Given the description of an element on the screen output the (x, y) to click on. 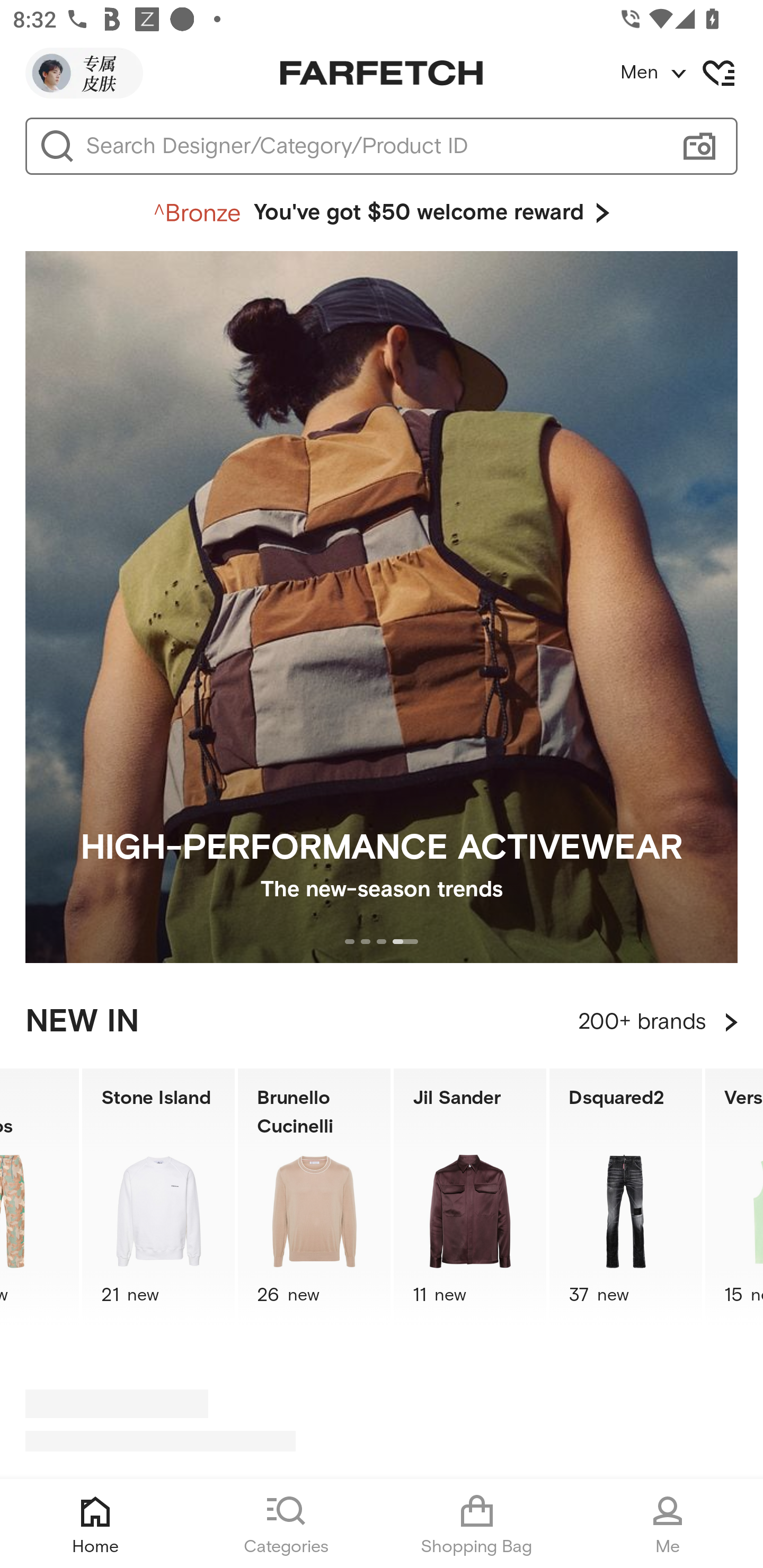
Men (691, 72)
Search Designer/Category/Product ID (373, 146)
You've got $50 welcome reward (381, 213)
NEW IN 200+ brands (381, 1021)
Stone Island 21  new (158, 1196)
Brunello Cucinelli 26  new (314, 1196)
Jil Sander 11  new (469, 1196)
Dsquared2 37  new (625, 1196)
Categories (285, 1523)
Shopping Bag (476, 1523)
Me (667, 1523)
